Given the description of an element on the screen output the (x, y) to click on. 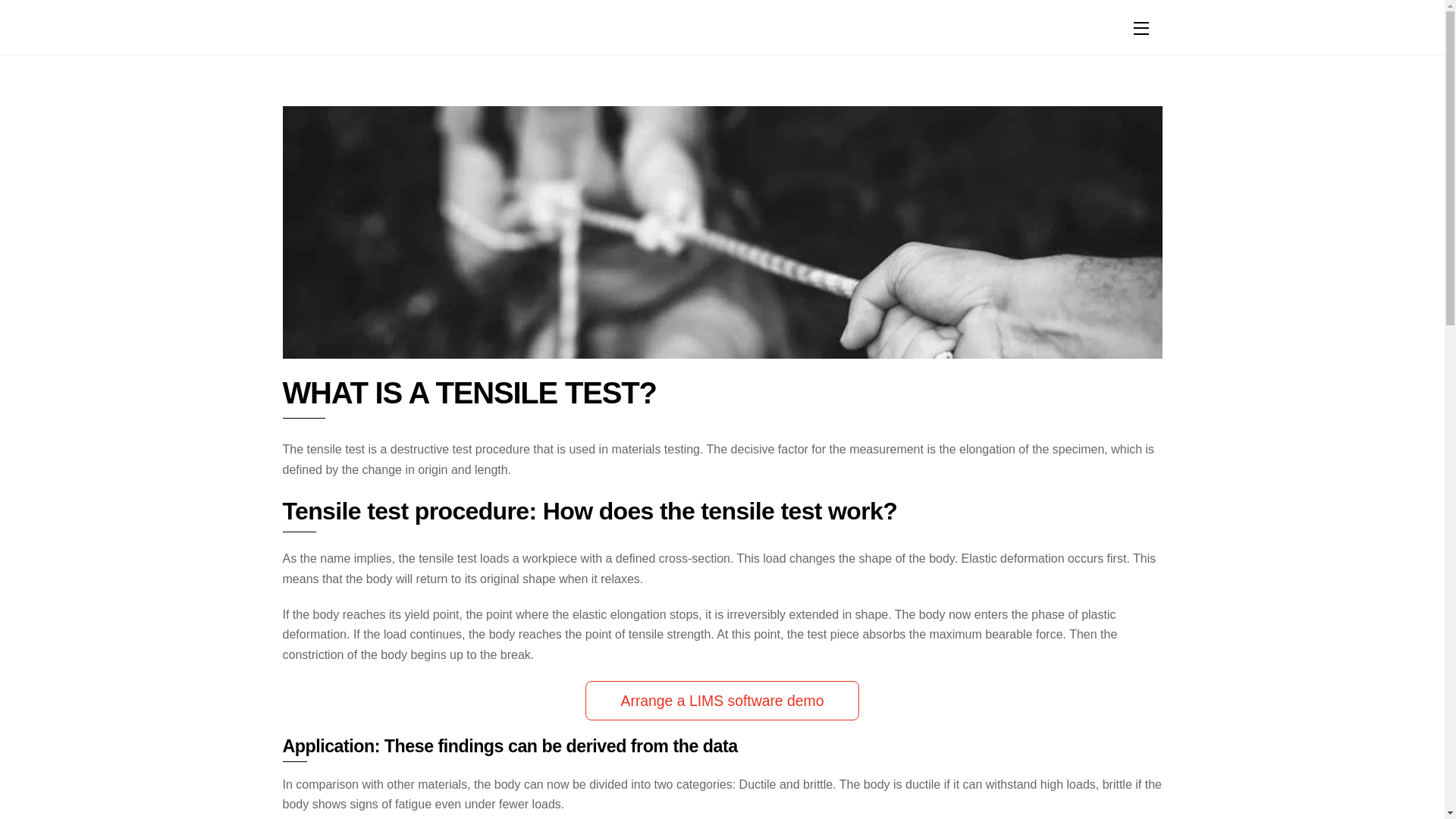
Widgets (721, 27)
Widgets (1140, 27)
Arrange a LIMS software demo (722, 700)
